Given the description of an element on the screen output the (x, y) to click on. 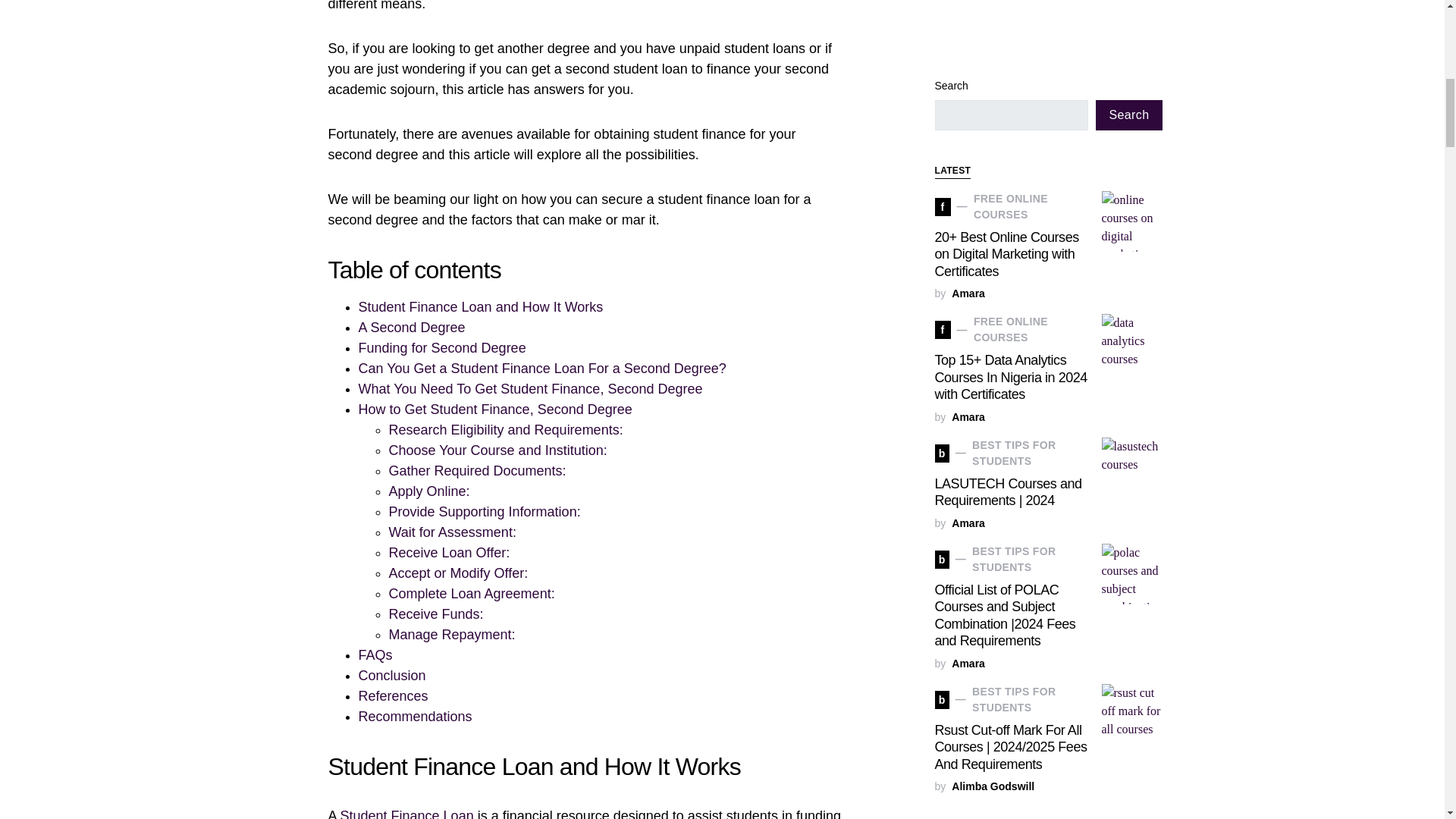
Research Eligibility and Requirements: (505, 429)
Manage Repayment: (451, 634)
A Second Degree (411, 327)
Can You Get a Student Finance Loan For a Second Degree? (541, 368)
Accept or Modify Offer: (457, 572)
Complete Loan Agreement: (471, 593)
Funding for Second Degree (441, 347)
Conclusion (391, 675)
References (393, 695)
Wait for Assessment: (451, 531)
Choose Your Course and Institution: (497, 450)
Receive Funds: (435, 613)
Gather Required Documents: (477, 470)
What You Need To Get Student Finance, Second Degree (529, 388)
Apply Online: (428, 491)
